Given the description of an element on the screen output the (x, y) to click on. 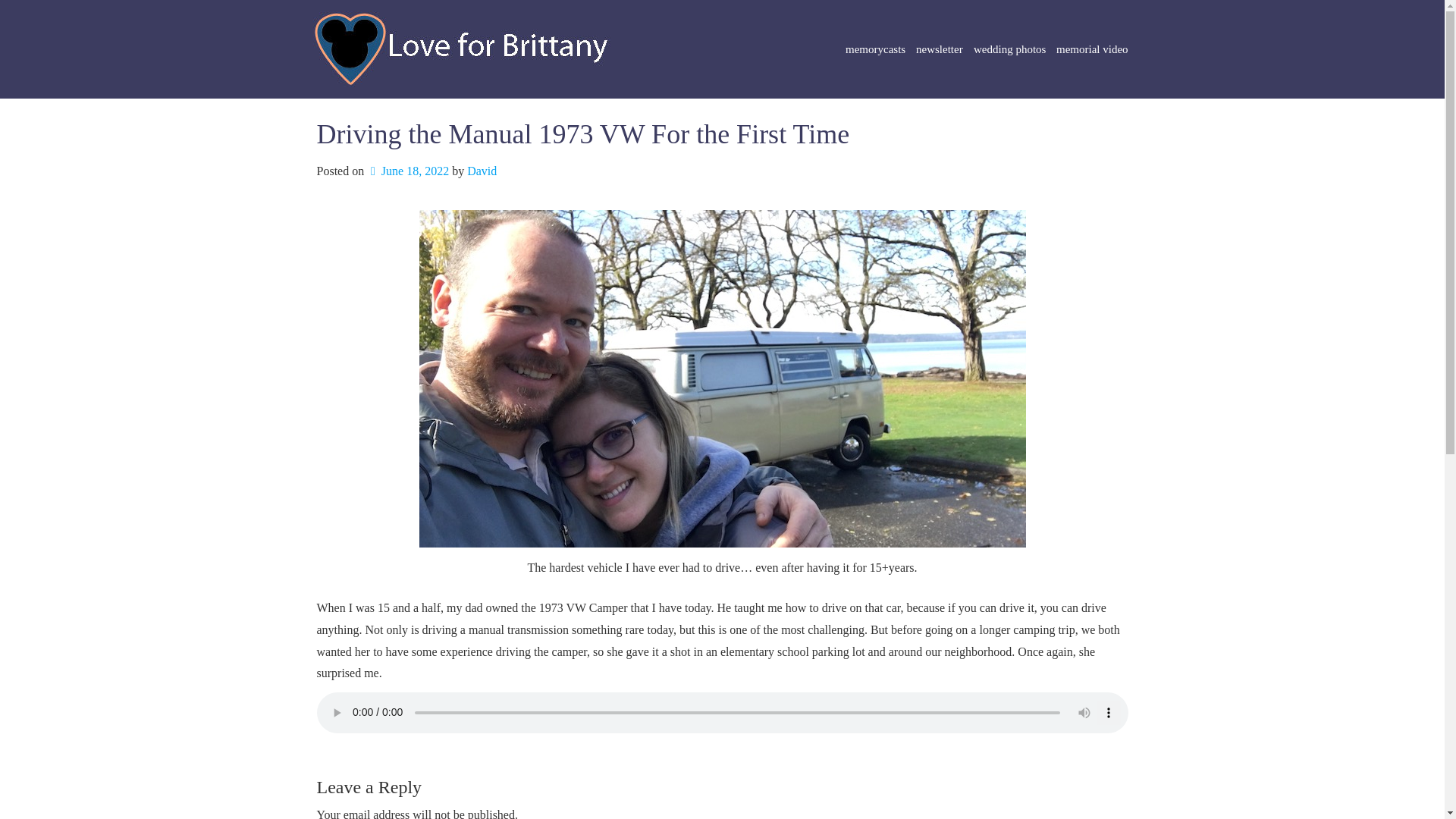
David (481, 170)
June 18, 2022 (407, 170)
memorial video (1091, 49)
memorycasts (874, 49)
wedding photos (1009, 49)
newsletter (939, 49)
